Given the description of an element on the screen output the (x, y) to click on. 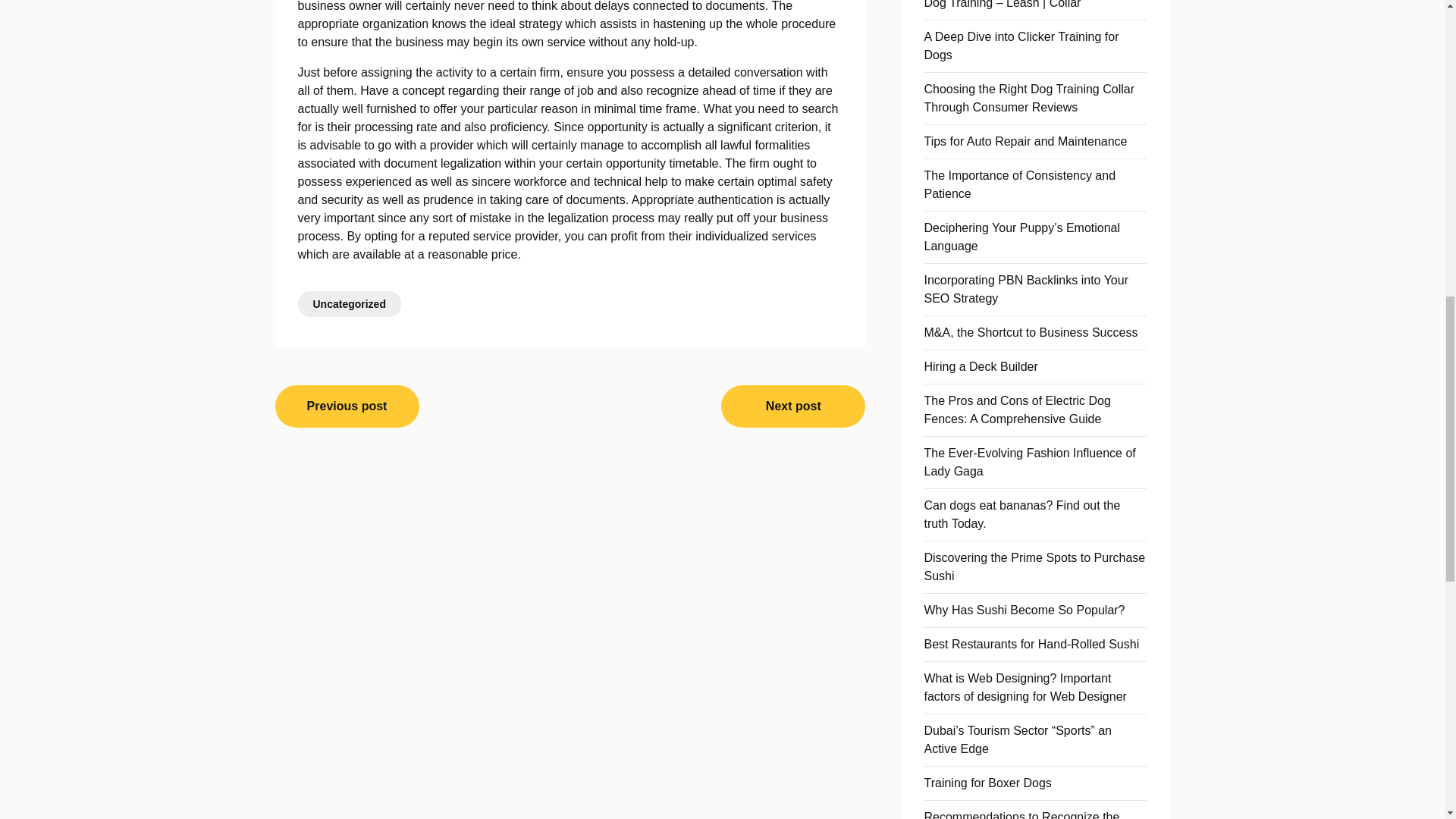
Uncategorized (348, 303)
Tips for Auto Repair and Maintenance (1024, 141)
Previous post (347, 405)
Hiring a Deck Builder (979, 366)
Training for Boxer Dogs (987, 782)
Incorporating PBN Backlinks into Your SEO Strategy (1024, 288)
Next post (792, 405)
The Importance of Consistency and Patience (1019, 183)
